Given the description of an element on the screen output the (x, y) to click on. 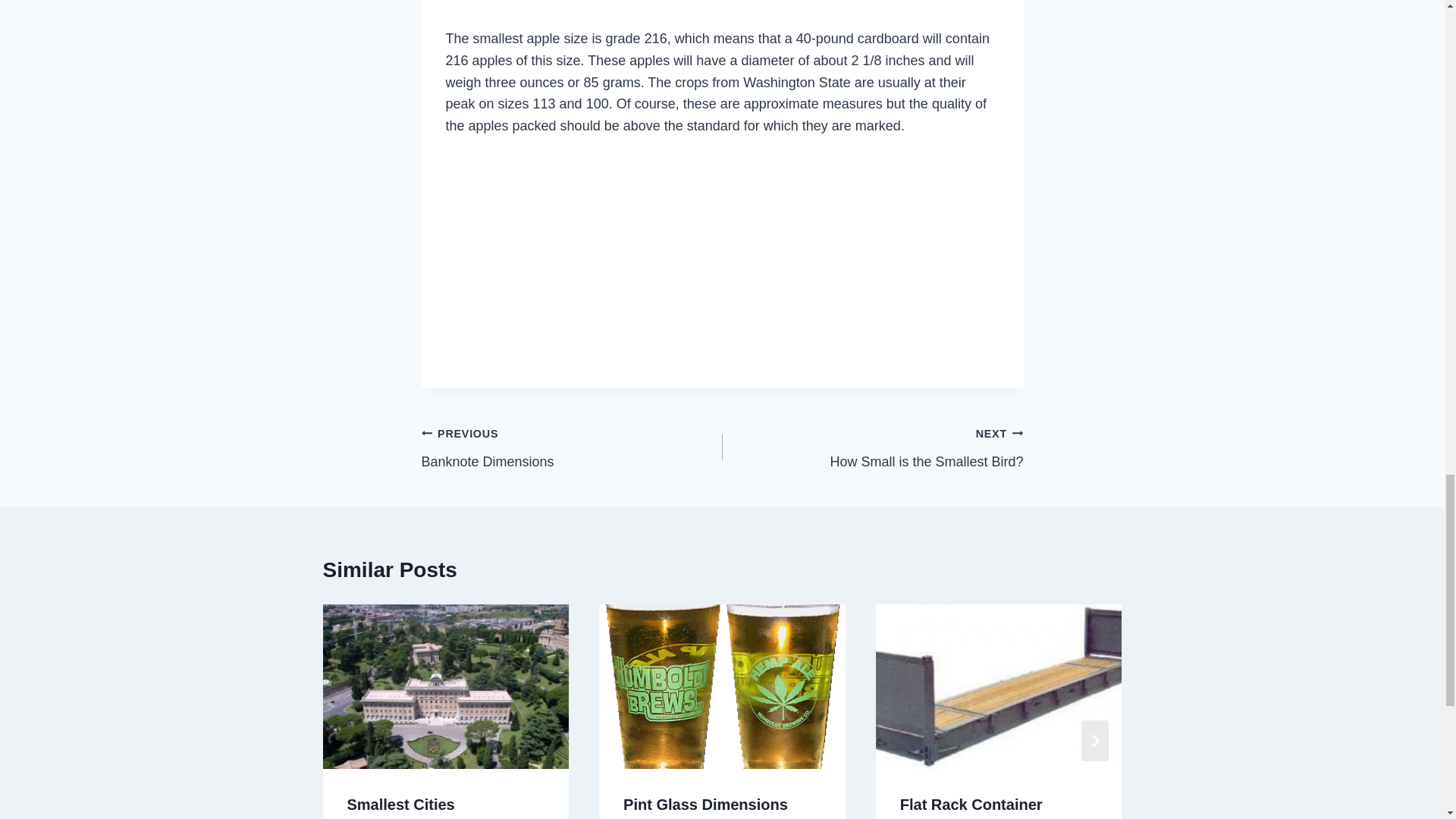
Advertisement (572, 447)
